Given the description of an element on the screen output the (x, y) to click on. 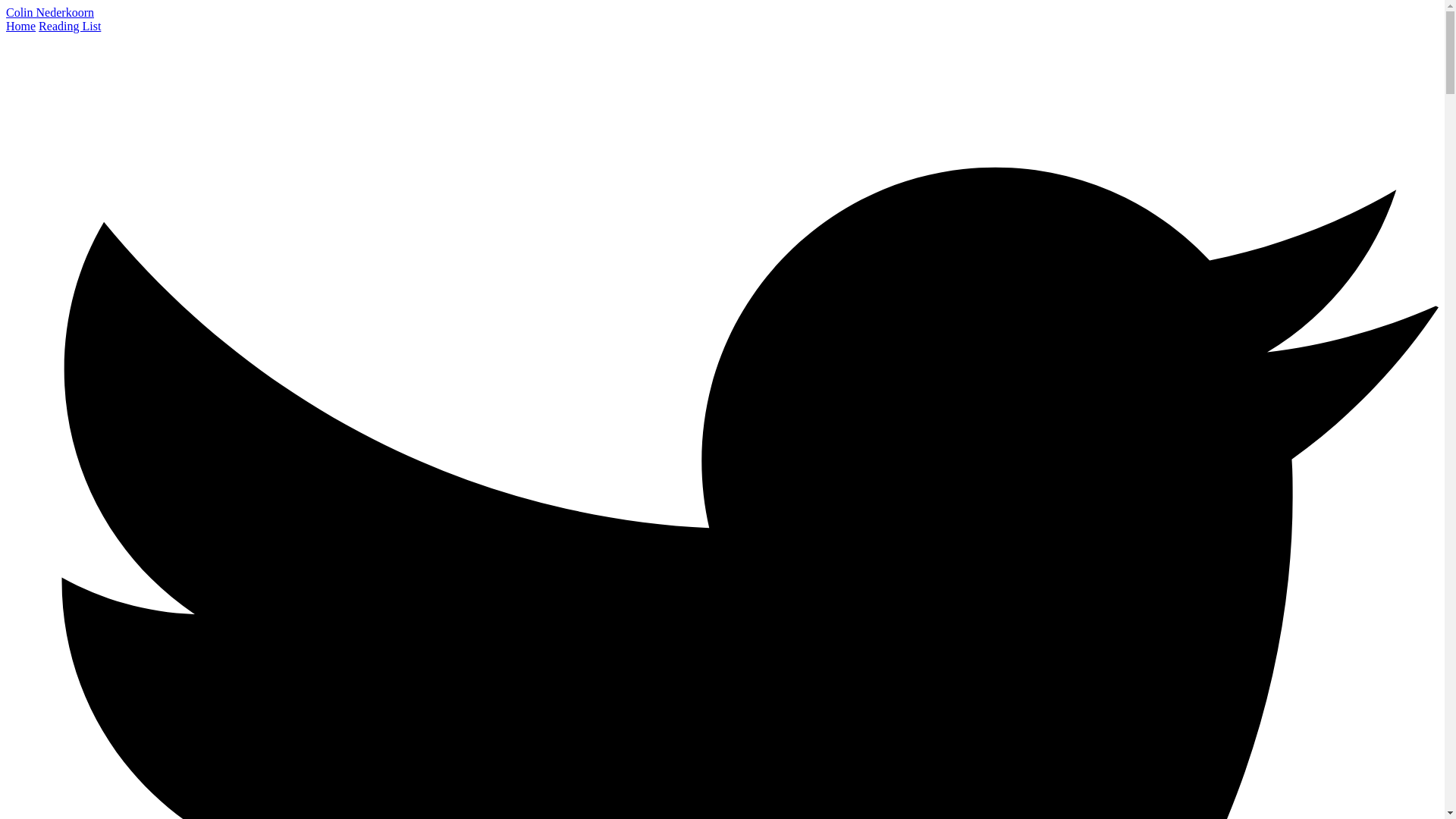
Colin Nederkoorn (49, 11)
Reading List (69, 25)
Home (19, 25)
